Given the description of an element on the screen output the (x, y) to click on. 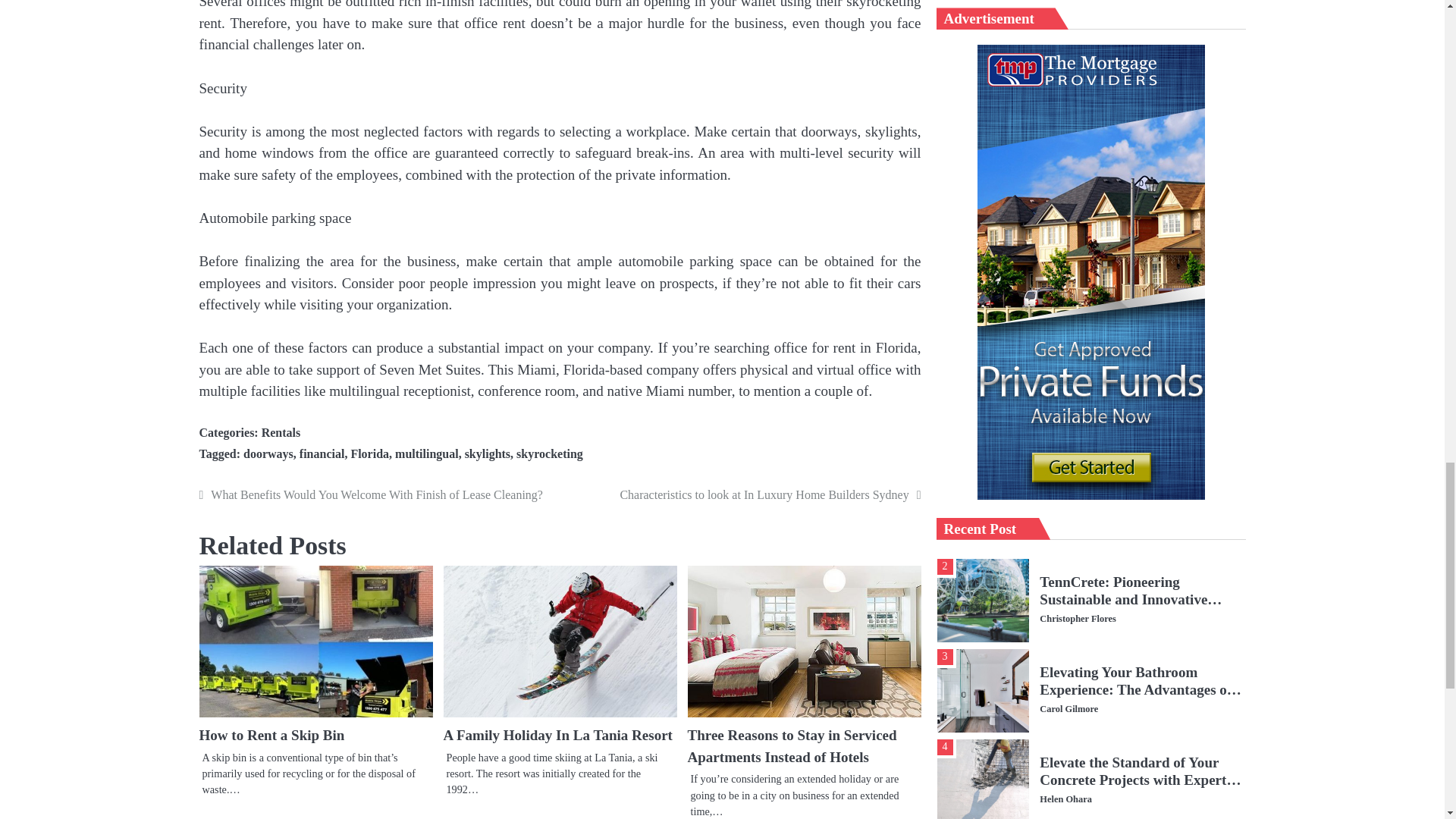
skyrocketing (549, 453)
A Family Holiday In La Tania Resort (556, 734)
financial (322, 453)
doorways (268, 453)
Rentals (281, 431)
Characteristics to look at In Luxury Home Builders Sydney (742, 495)
multilingual (426, 453)
skylights (487, 453)
